Given the description of an element on the screen output the (x, y) to click on. 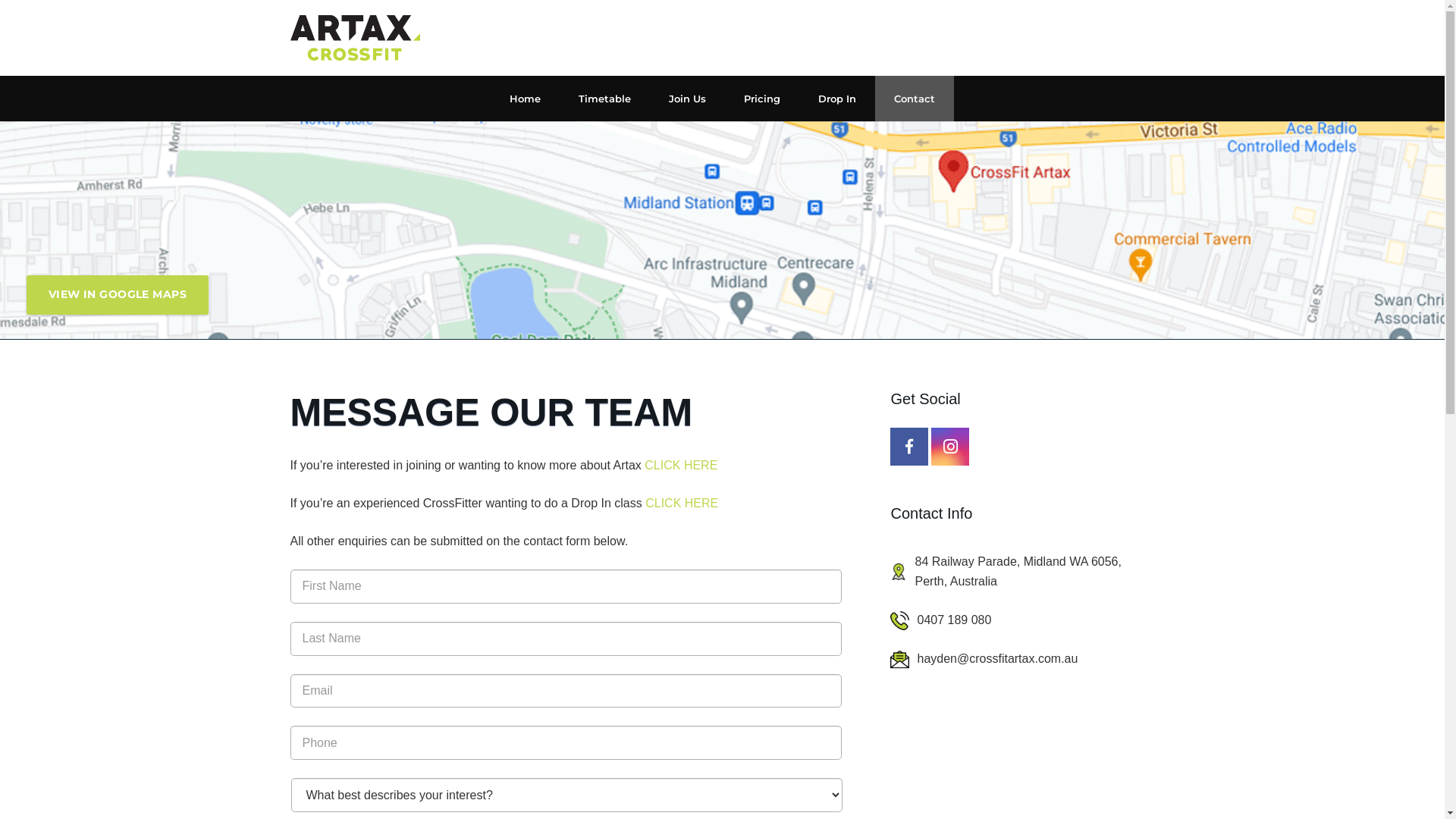
CLICK HERE Element type: text (681, 502)
0407 189 080 Element type: text (1035, 620)
Join Us Element type: text (686, 98)
Pricing Element type: text (761, 98)
hayden@crossfitartax.com.au Element type: text (1035, 658)
Contact Element type: text (914, 98)
Home Element type: text (524, 98)
Timetable Element type: text (604, 98)
CLICK HERE Element type: text (680, 464)
VIEW IN GOOGLE MAPS Element type: text (117, 294)
84 Railway Parade, Midland WA 6056, Perth, Australia Element type: text (1034, 571)
Drop In Element type: text (837, 98)
